Given the description of an element on the screen output the (x, y) to click on. 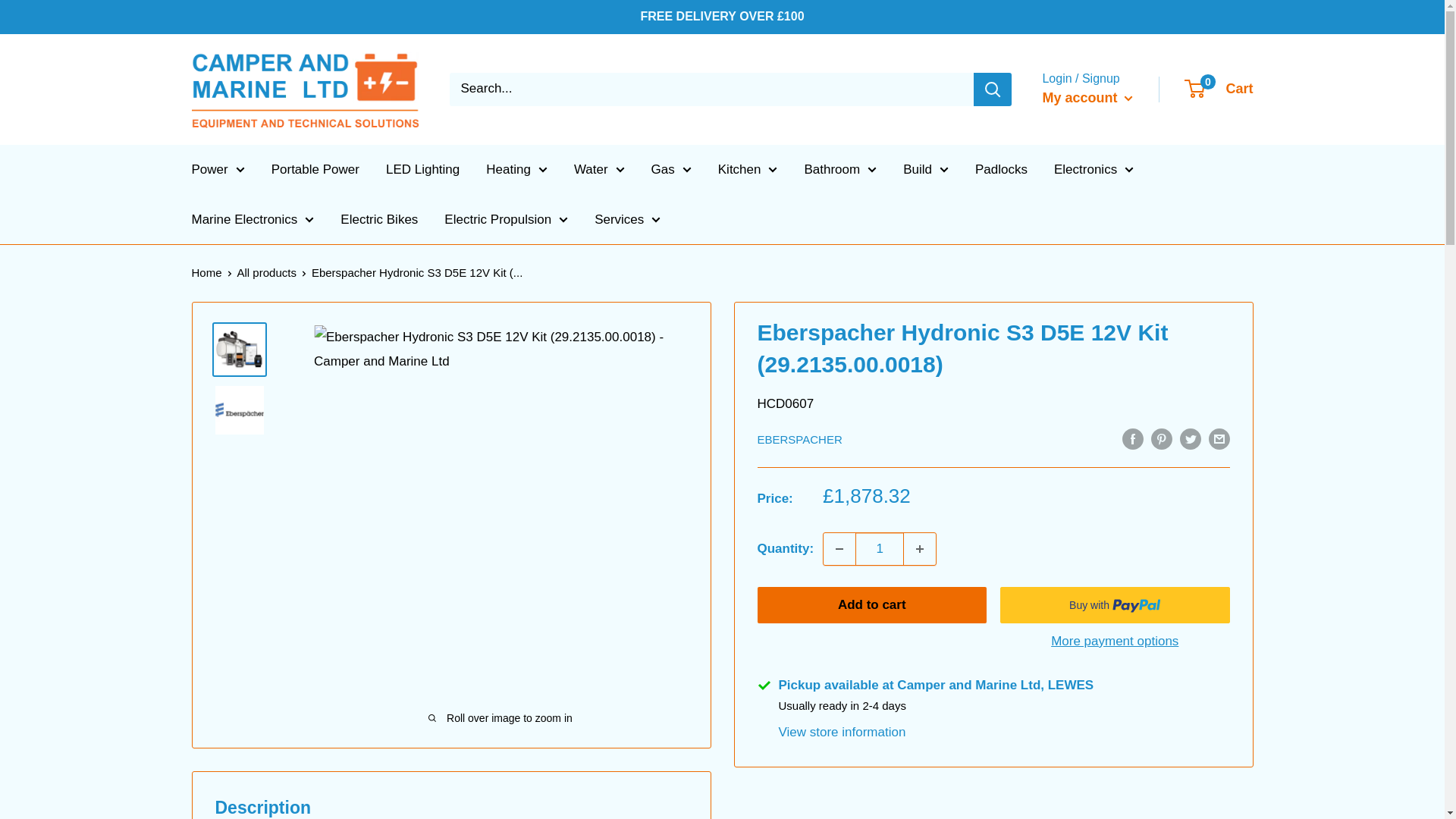
1 (880, 549)
Increase quantity by 1 (920, 549)
Decrease quantity by 1 (840, 549)
